Given the description of an element on the screen output the (x, y) to click on. 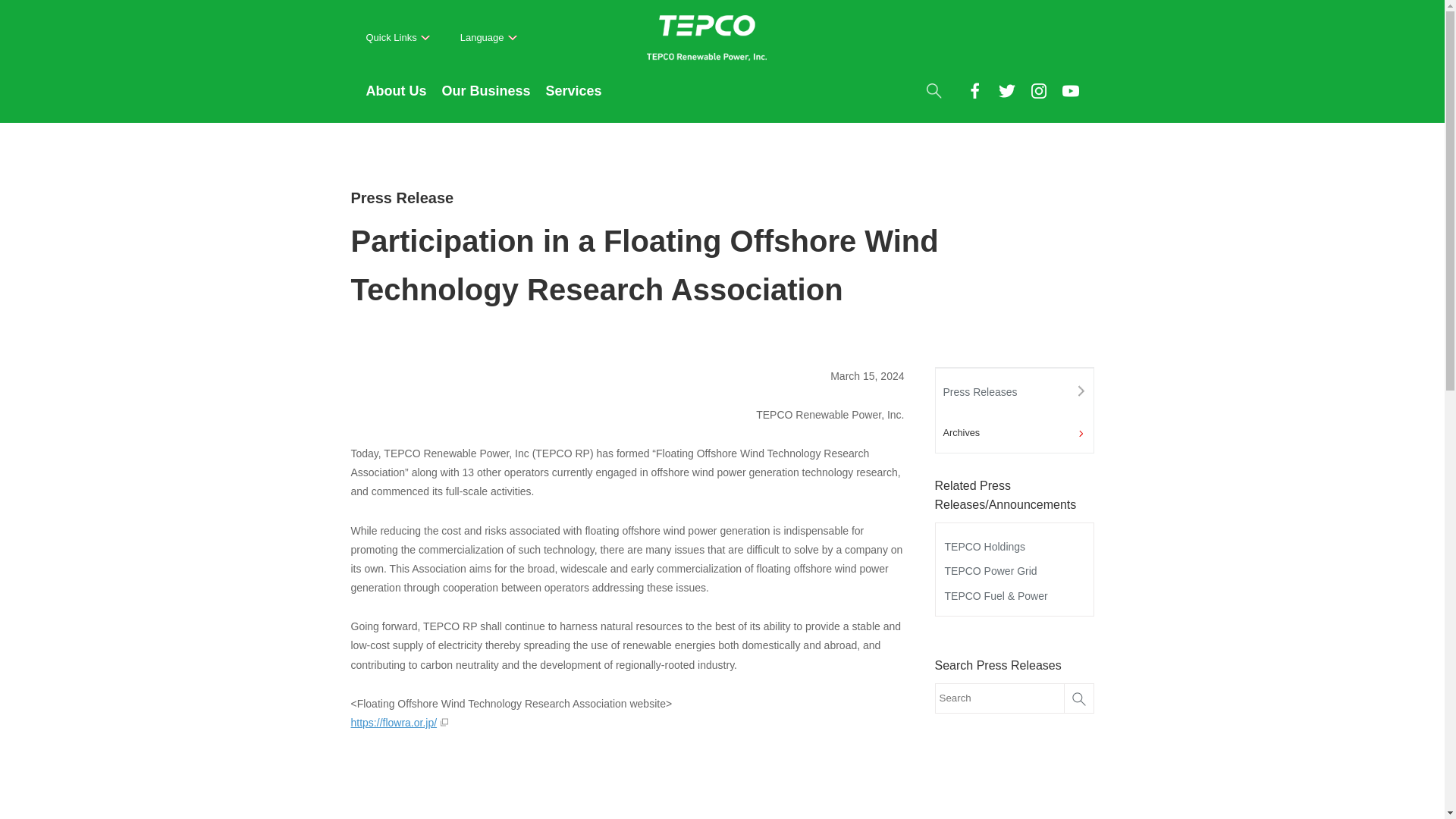
About Us (395, 99)
search (933, 89)
Our Business (485, 99)
Quick Links (397, 38)
Language (488, 38)
